Given the description of an element on the screen output the (x, y) to click on. 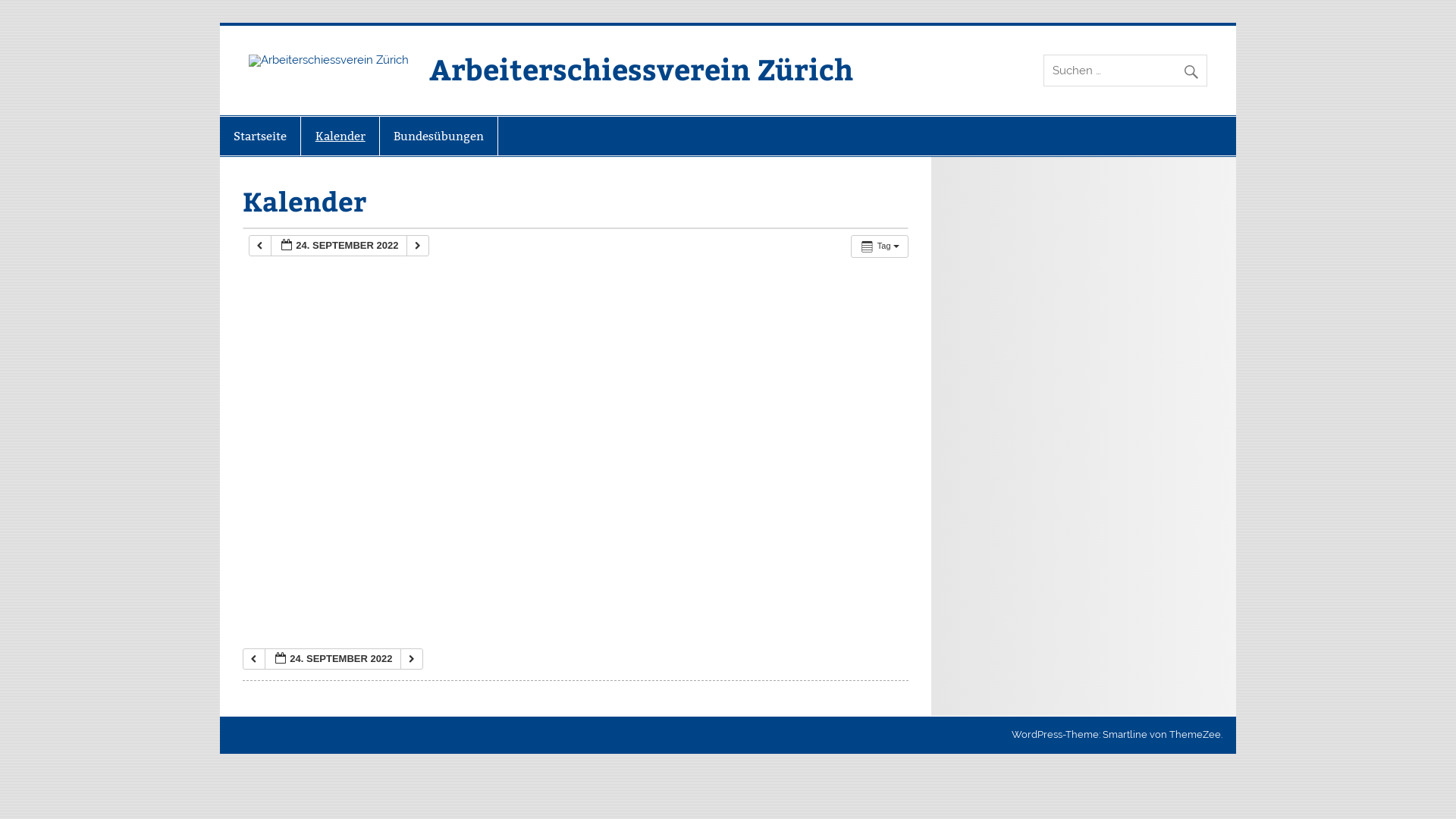
Startseite Element type: text (259, 136)
Kalender Element type: text (339, 136)
24. SEPTEMBER 2022 Element type: text (332, 659)
24. SEPTEMBER 2022 Element type: text (338, 246)
Tag Element type: text (879, 246)
